Given the description of an element on the screen output the (x, y) to click on. 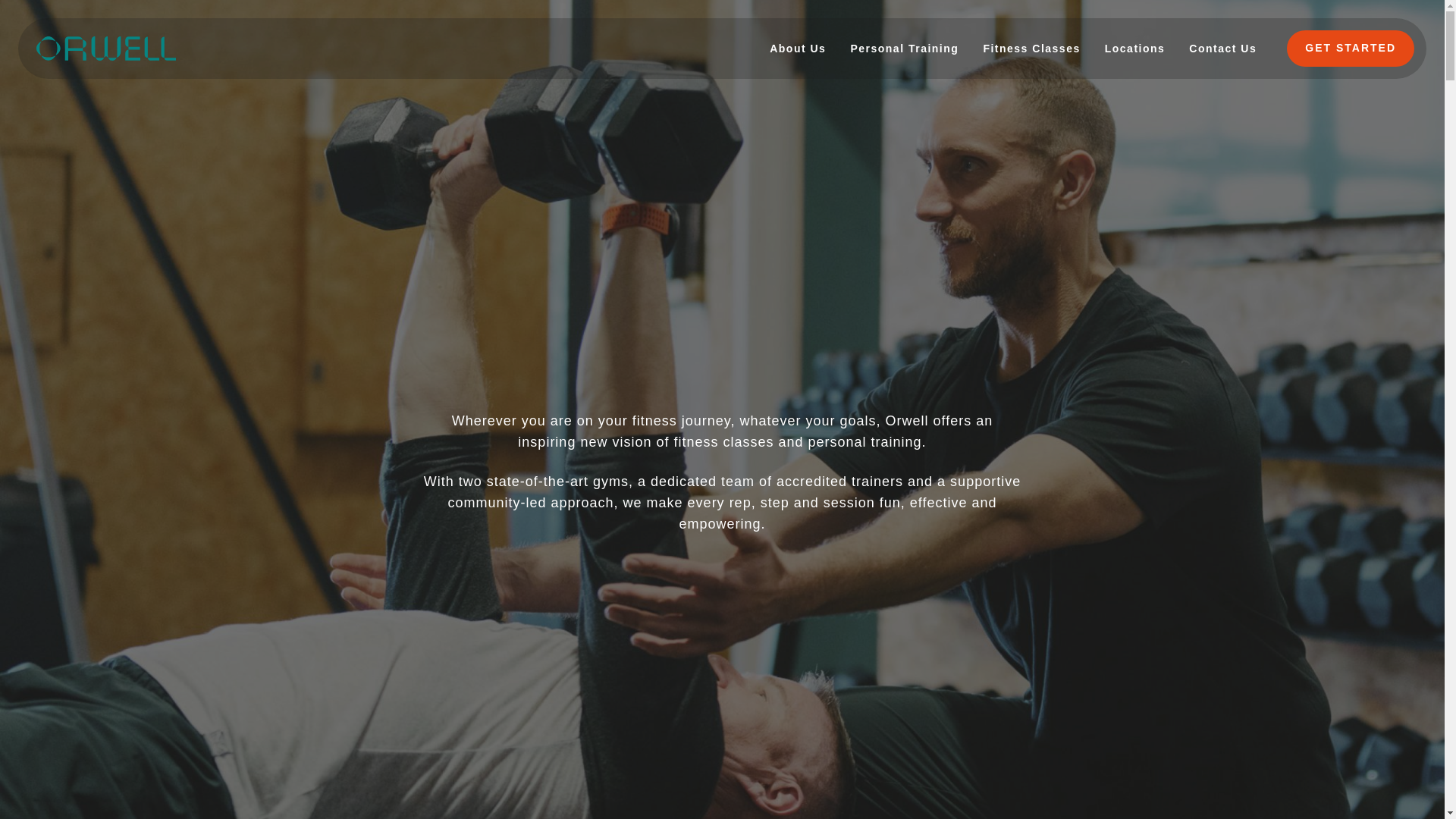
GET STARTED (1350, 48)
Personal Training (904, 48)
About Us (797, 48)
Contact Us (1222, 48)
Fitness Classes (1031, 48)
Locations (1135, 48)
